Given the description of an element on the screen output the (x, y) to click on. 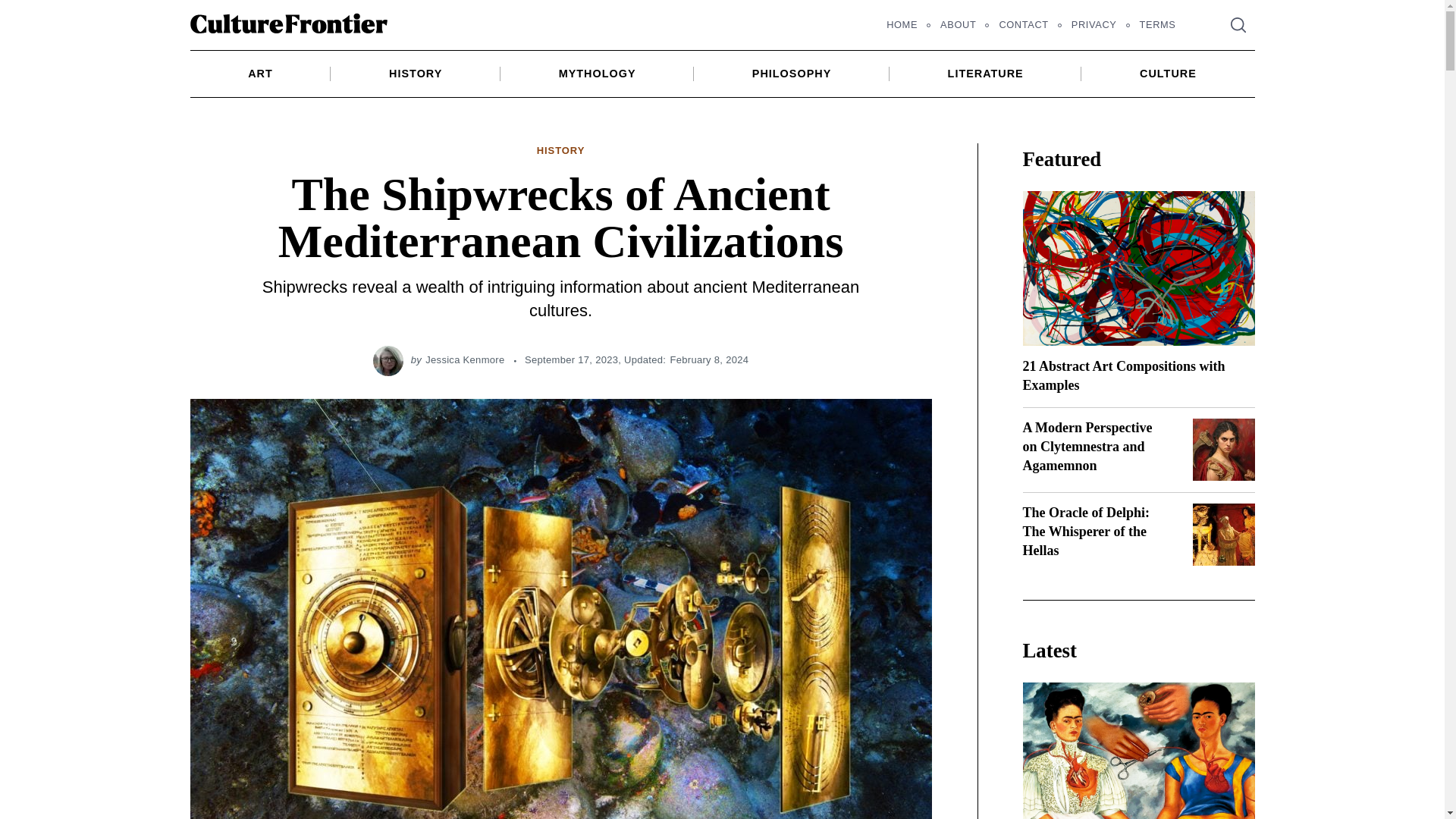
MYTHOLOGY (597, 73)
HISTORY (415, 73)
CONTACT (1023, 24)
PHILOSOPHY (791, 73)
TERMS (1158, 24)
HISTORY (561, 150)
CULTURE (1167, 73)
PRIVACY (1093, 24)
ABOUT (957, 24)
ART (260, 73)
HOME (901, 24)
Jessica Kenmore (464, 359)
LITERATURE (985, 73)
